Given the description of an element on the screen output the (x, y) to click on. 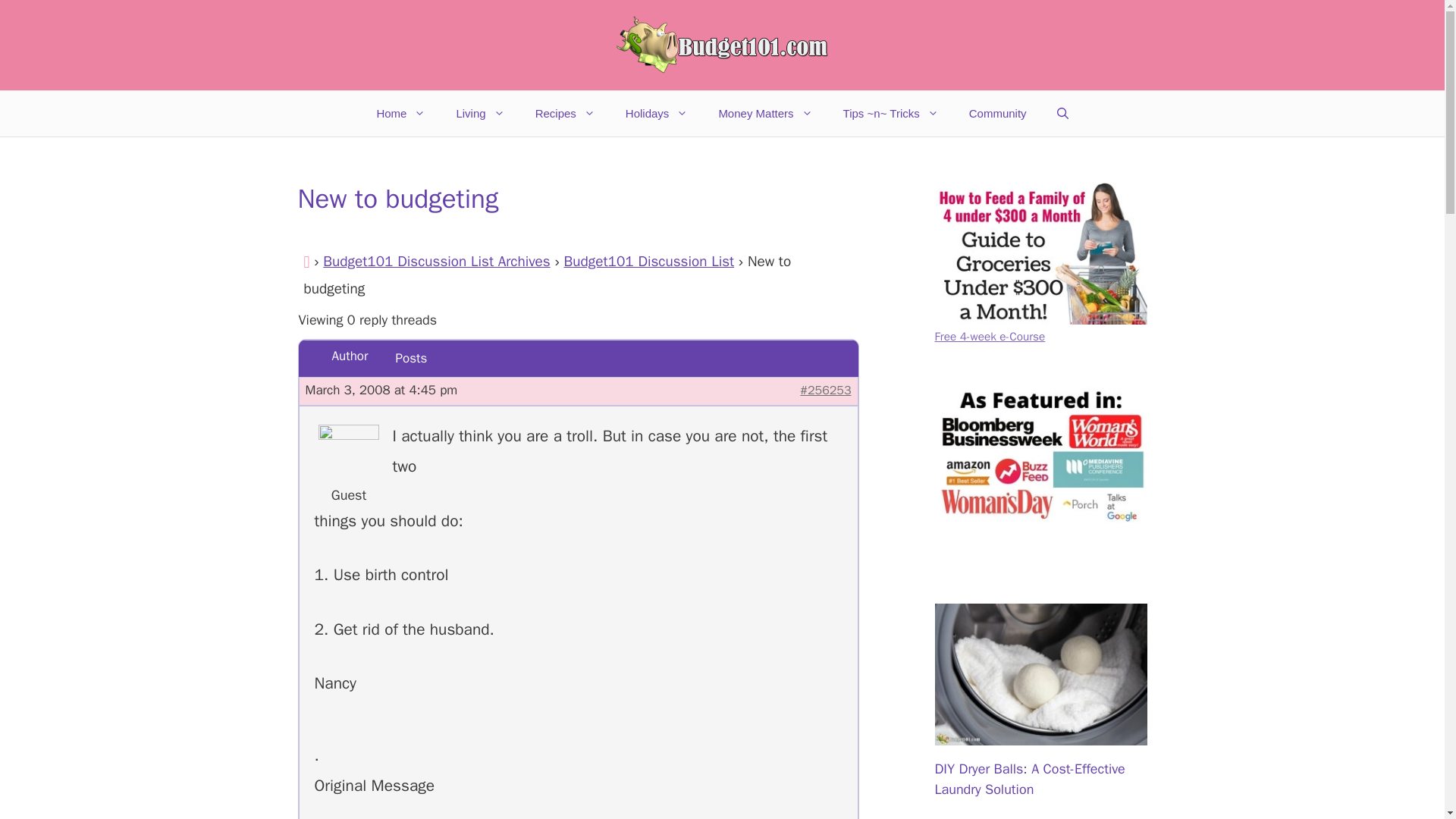
DIY Dryer Balls: A Cost-Effective Laundry Solution (1040, 734)
b101 search button (1040, 457)
Living (480, 113)
Recipes (564, 113)
Holidays (656, 113)
guide to groceries 300m sidebar (1040, 253)
Home (401, 113)
Budget101 (721, 44)
Budget101 (721, 45)
